Given the description of an element on the screen output the (x, y) to click on. 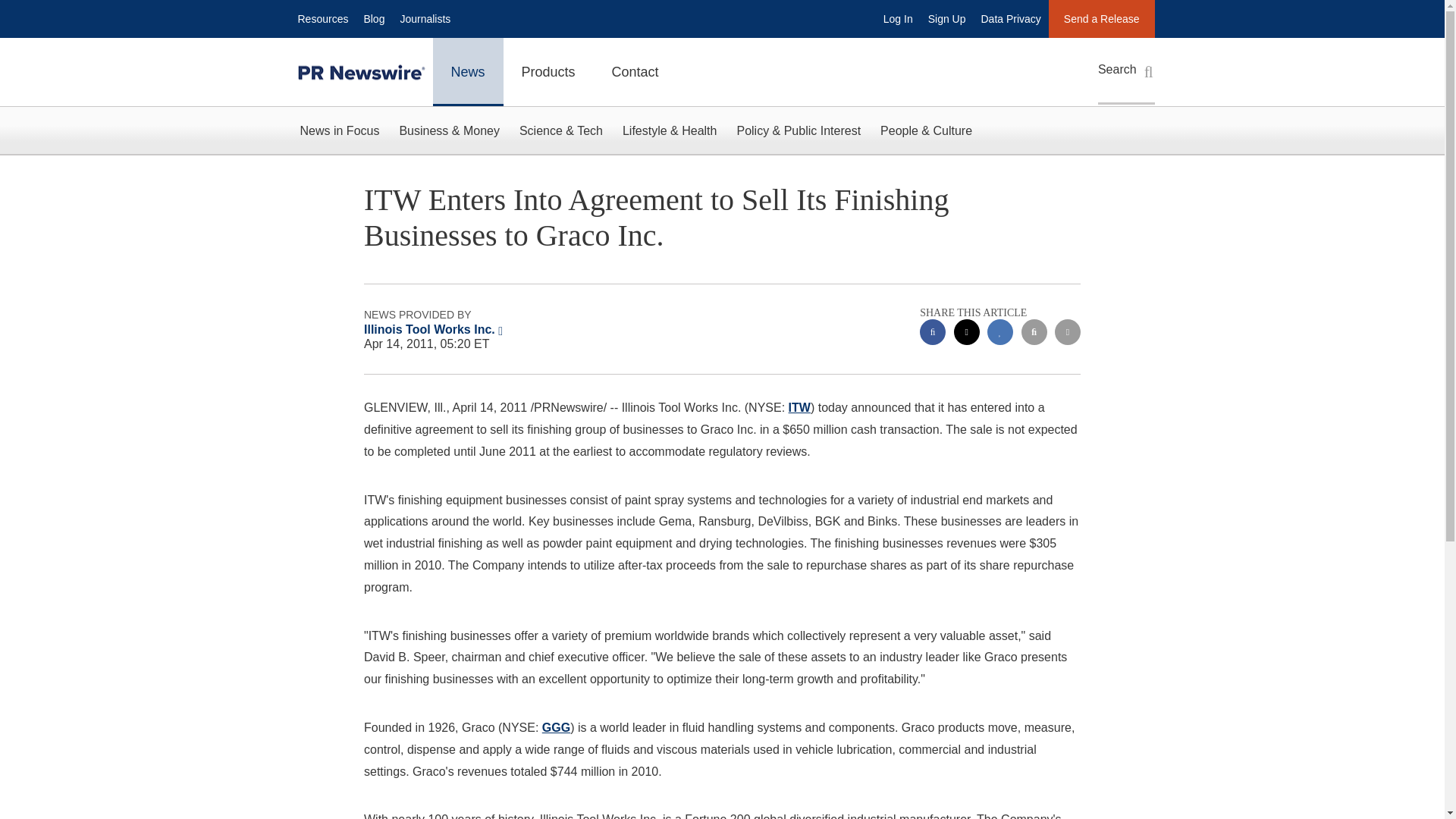
News in Focus (338, 130)
